Given the description of an element on the screen output the (x, y) to click on. 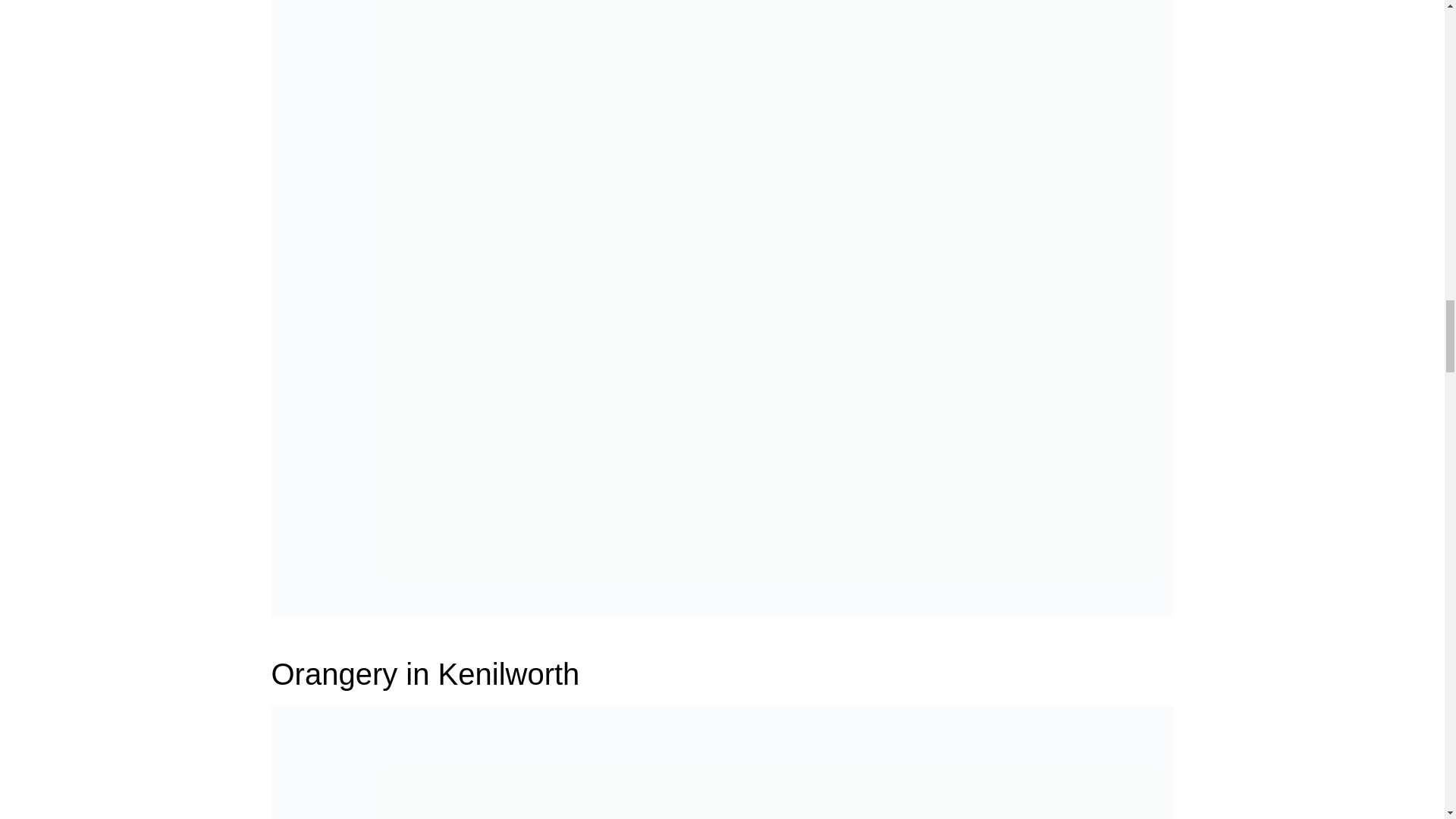
Orangery Harborough Magna (721, 305)
Orangery in Kenilworth (424, 674)
